Given the description of an element on the screen output the (x, y) to click on. 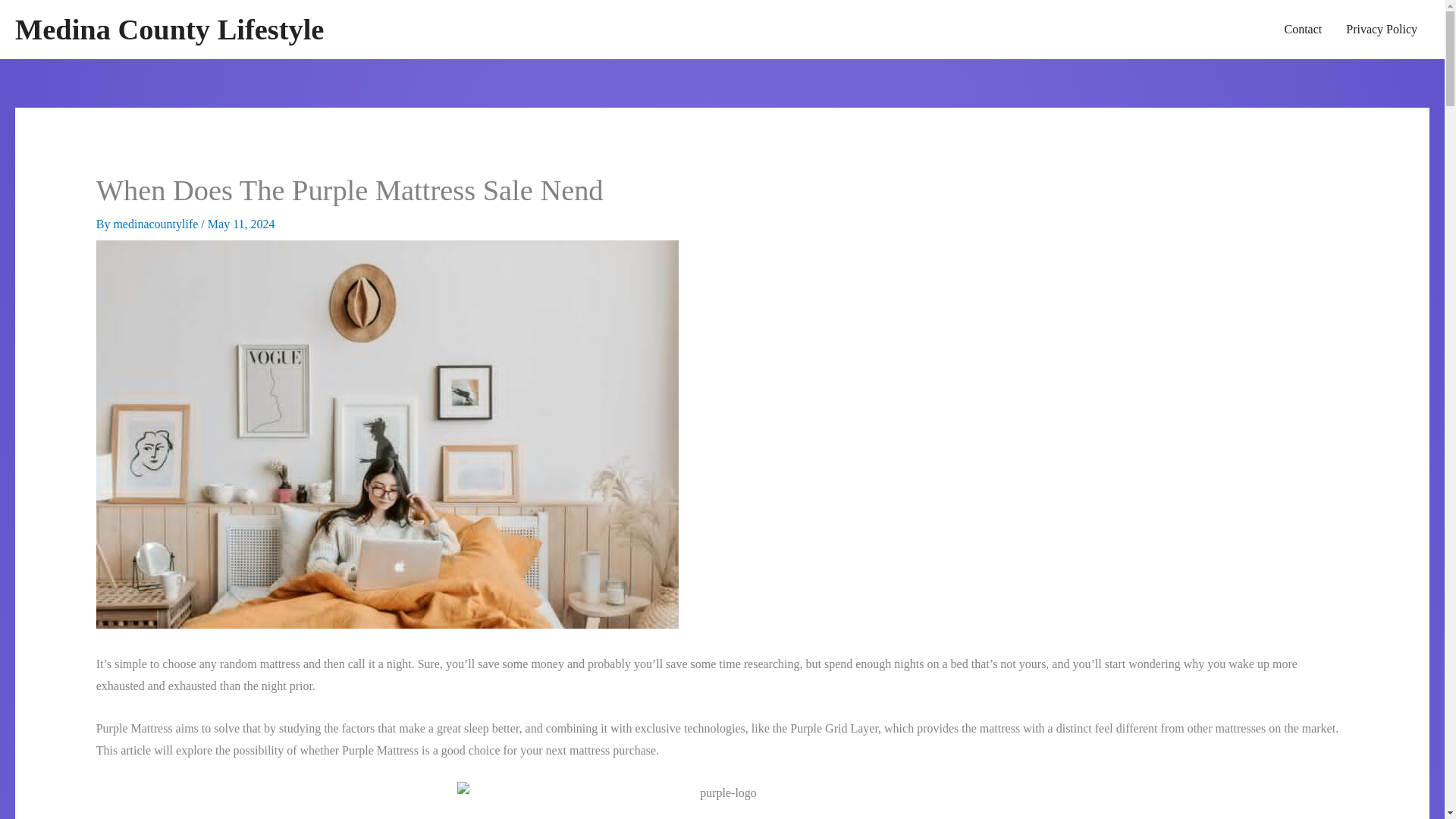
View all posts by medinacountylife (156, 223)
medinacountylife (156, 223)
Medina County Lifestyle (168, 29)
Contact (1302, 29)
Privacy Policy (1381, 29)
